Given the description of an element on the screen output the (x, y) to click on. 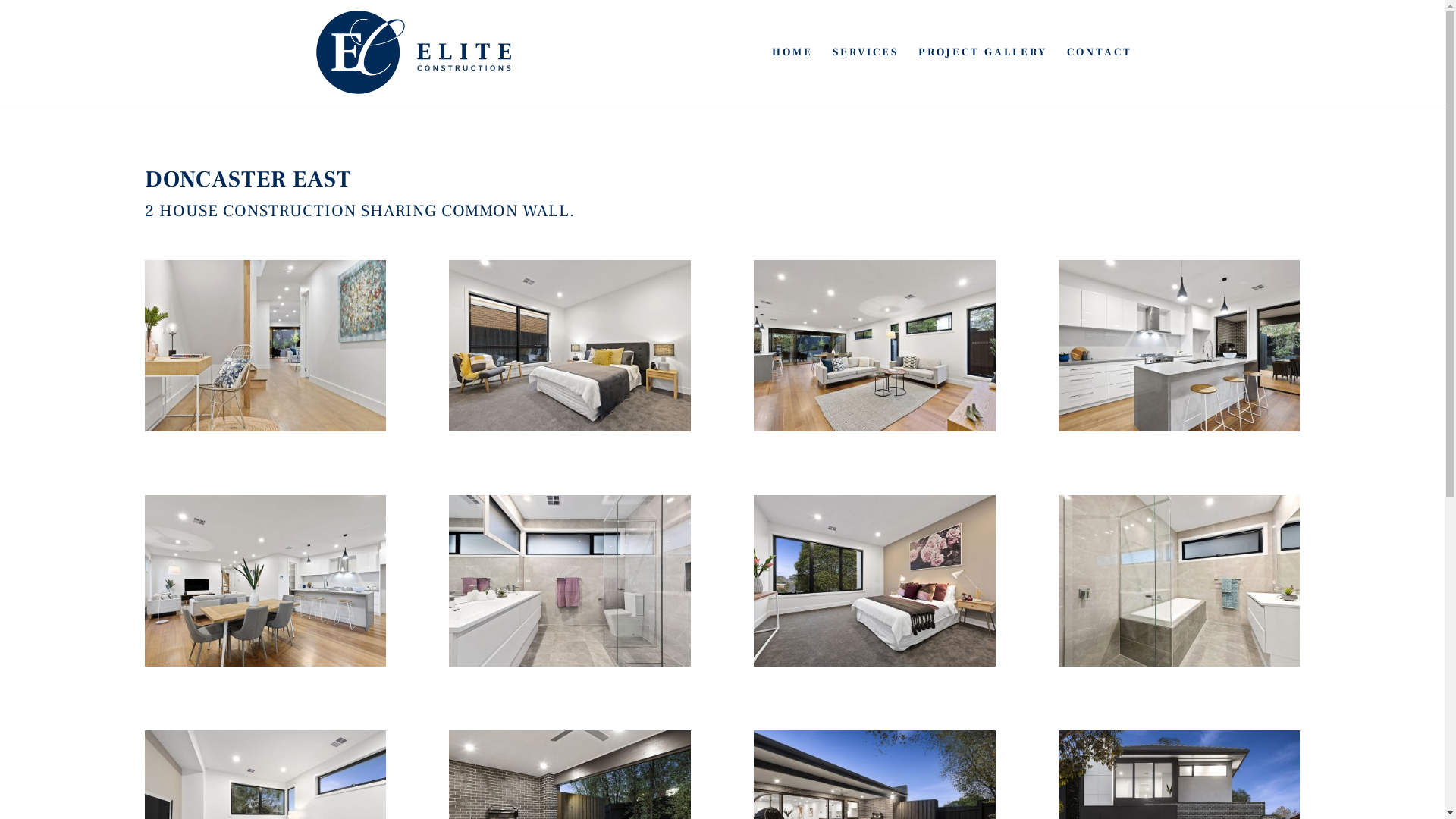
PhilipAve_6 Element type: hover (569, 666)
CONTACT Element type: text (1098, 75)
PROJECT GALLERY Element type: text (981, 75)
HOME Element type: text (791, 75)
PhilipAve_1 Element type: hover (264, 431)
PhilipAve_7 Element type: hover (873, 666)
PhilipAve_8 Element type: hover (1178, 666)
PhilipAve_5 Element type: hover (264, 666)
PhilipAve_2 Element type: hover (569, 431)
PhilipAve_4 Element type: hover (1178, 431)
PhilipAve_3 Element type: hover (873, 431)
SERVICES Element type: text (865, 75)
